Given the description of an element on the screen output the (x, y) to click on. 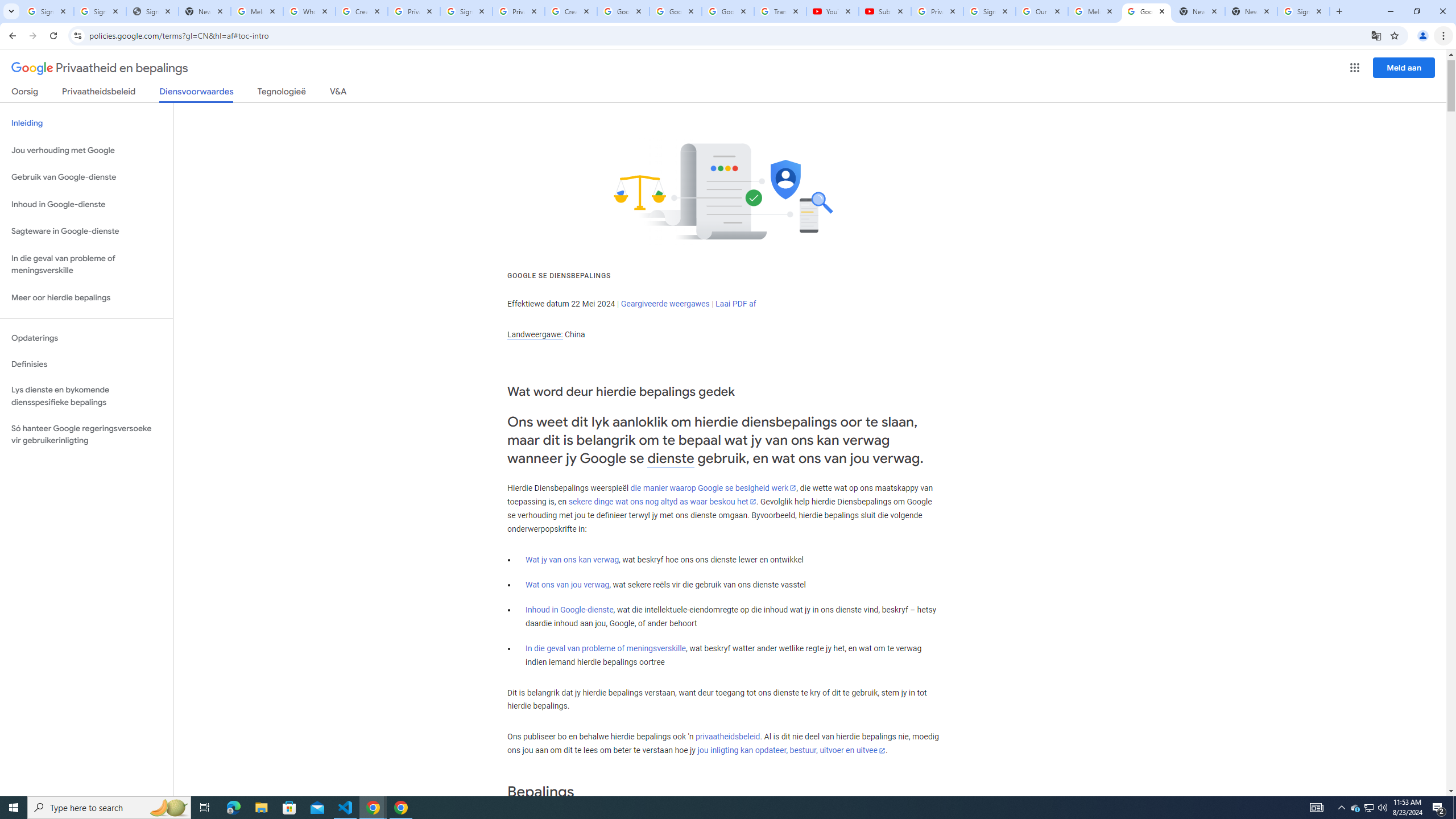
Next (805, 72)
Highlight Merge Fields (378, 92)
Previous (743, 72)
